Given the description of an element on the screen output the (x, y) to click on. 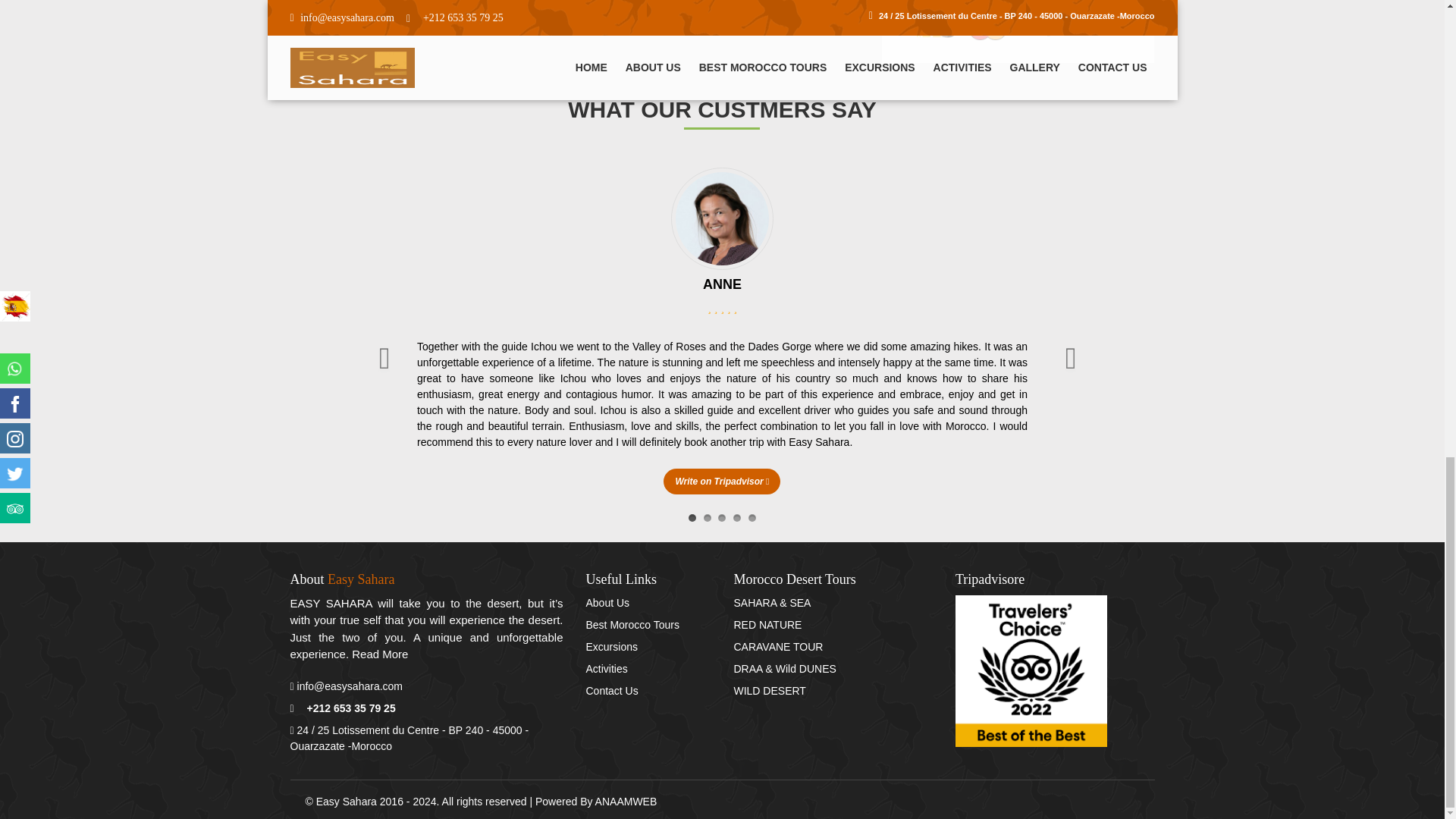
Write on Tripadvisor (721, 481)
Read More (379, 653)
